Given the description of an element on the screen output the (x, y) to click on. 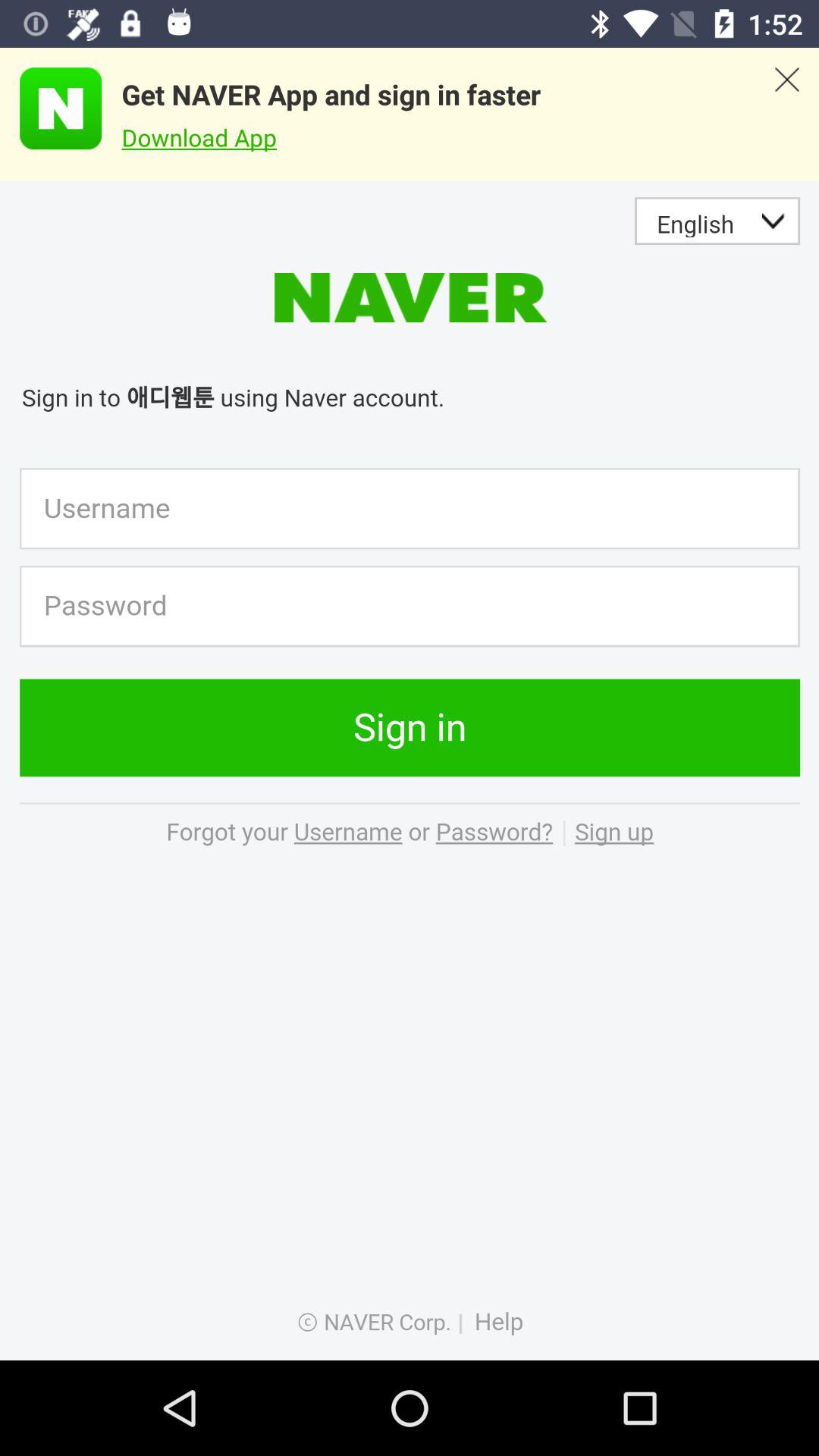
log into naver (409, 770)
